Given the description of an element on the screen output the (x, y) to click on. 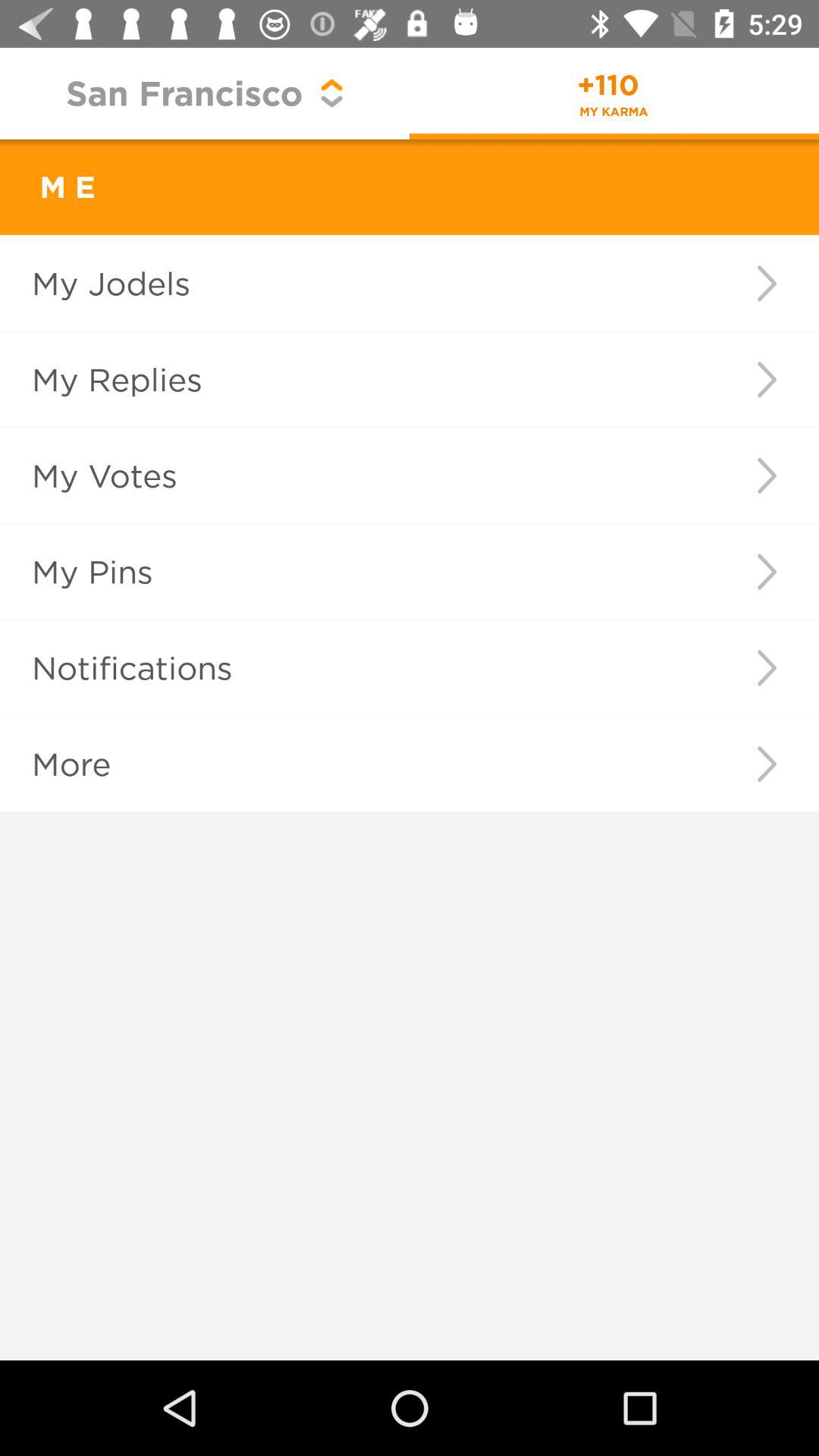
turn on item to the right of the my replies item (766, 379)
